Given the description of an element on the screen output the (x, y) to click on. 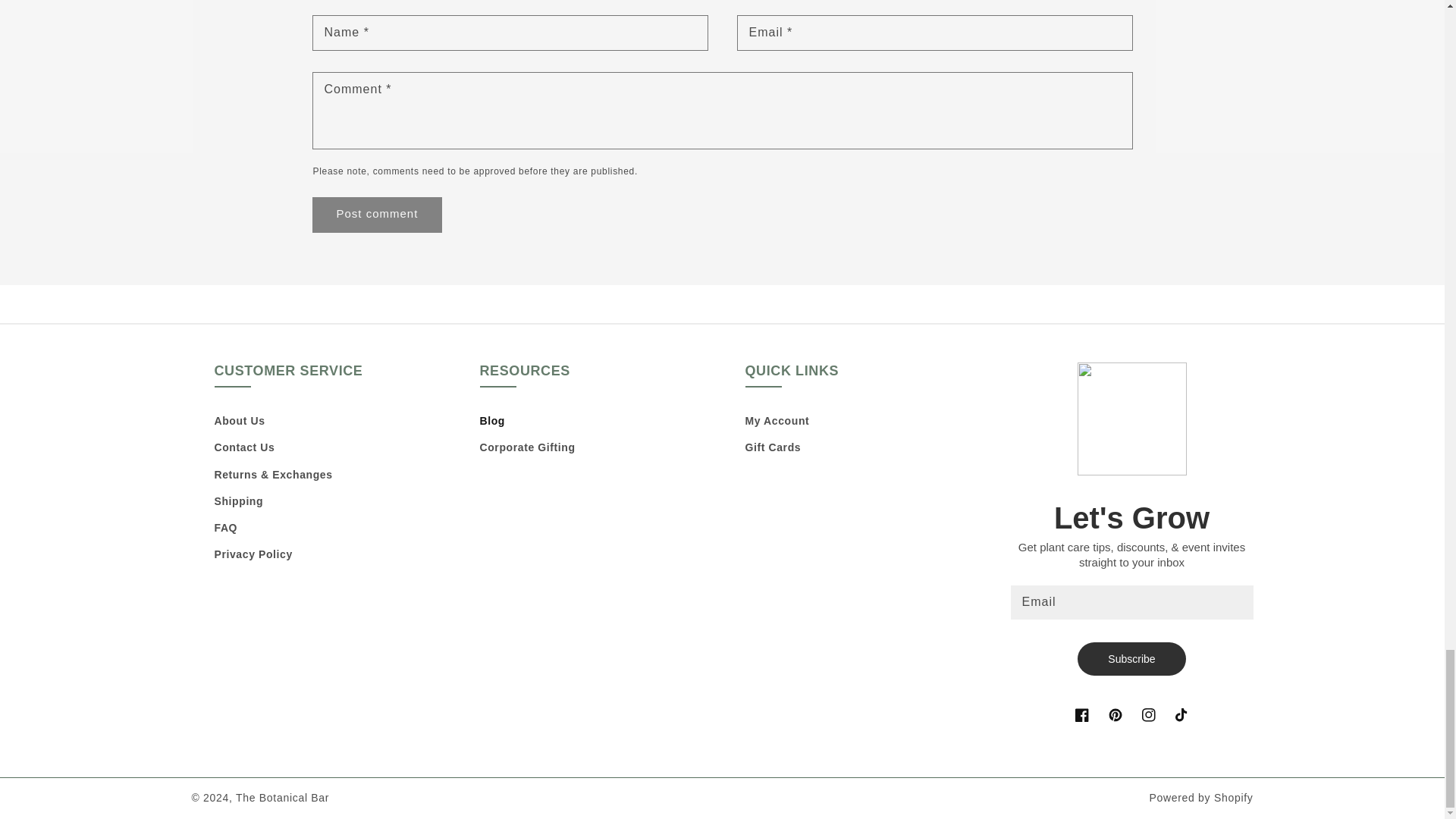
Post comment (377, 214)
